Given the description of an element on the screen output the (x, y) to click on. 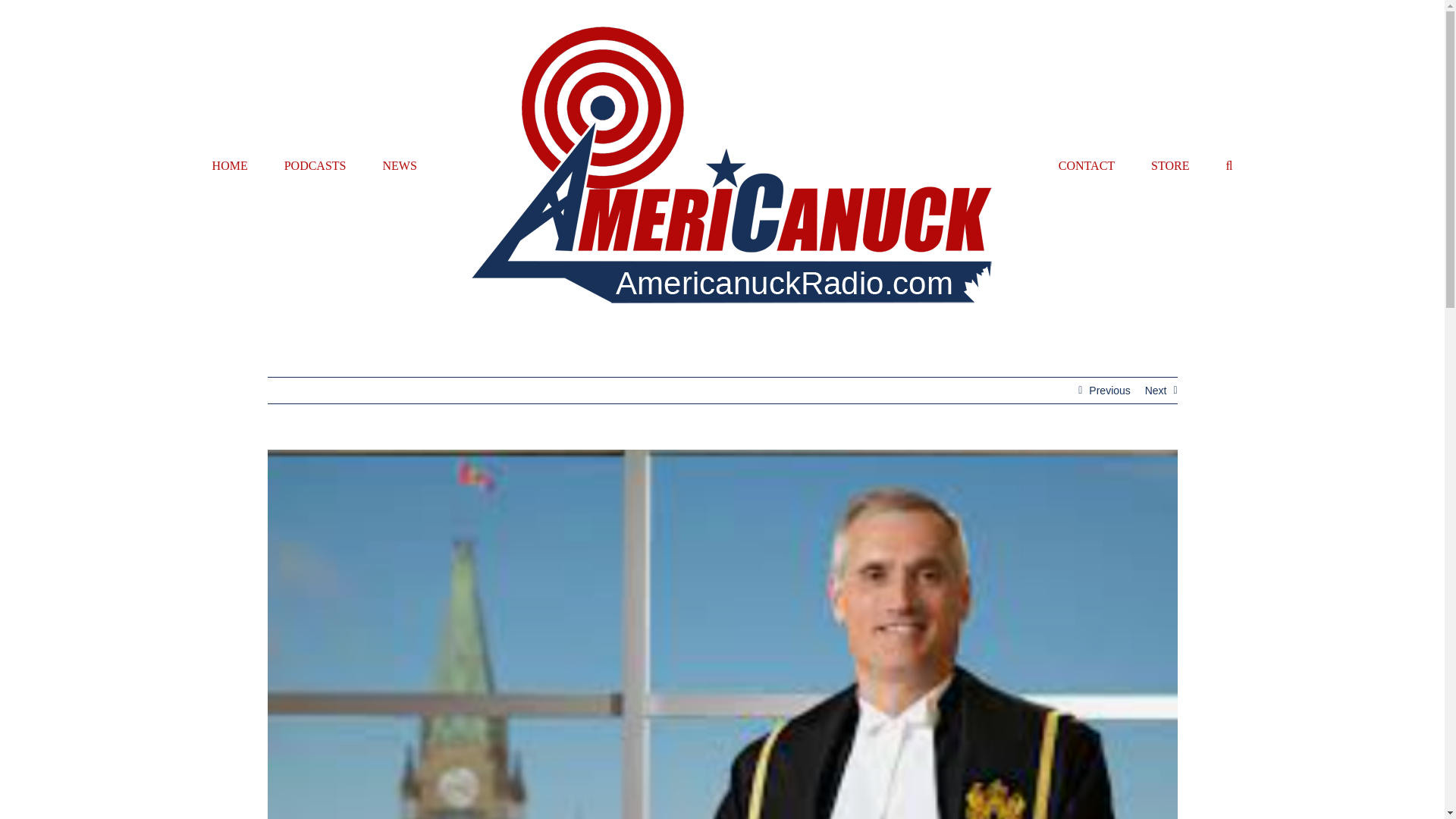
Previous (1109, 390)
PODCASTS (314, 165)
